Given the description of an element on the screen output the (x, y) to click on. 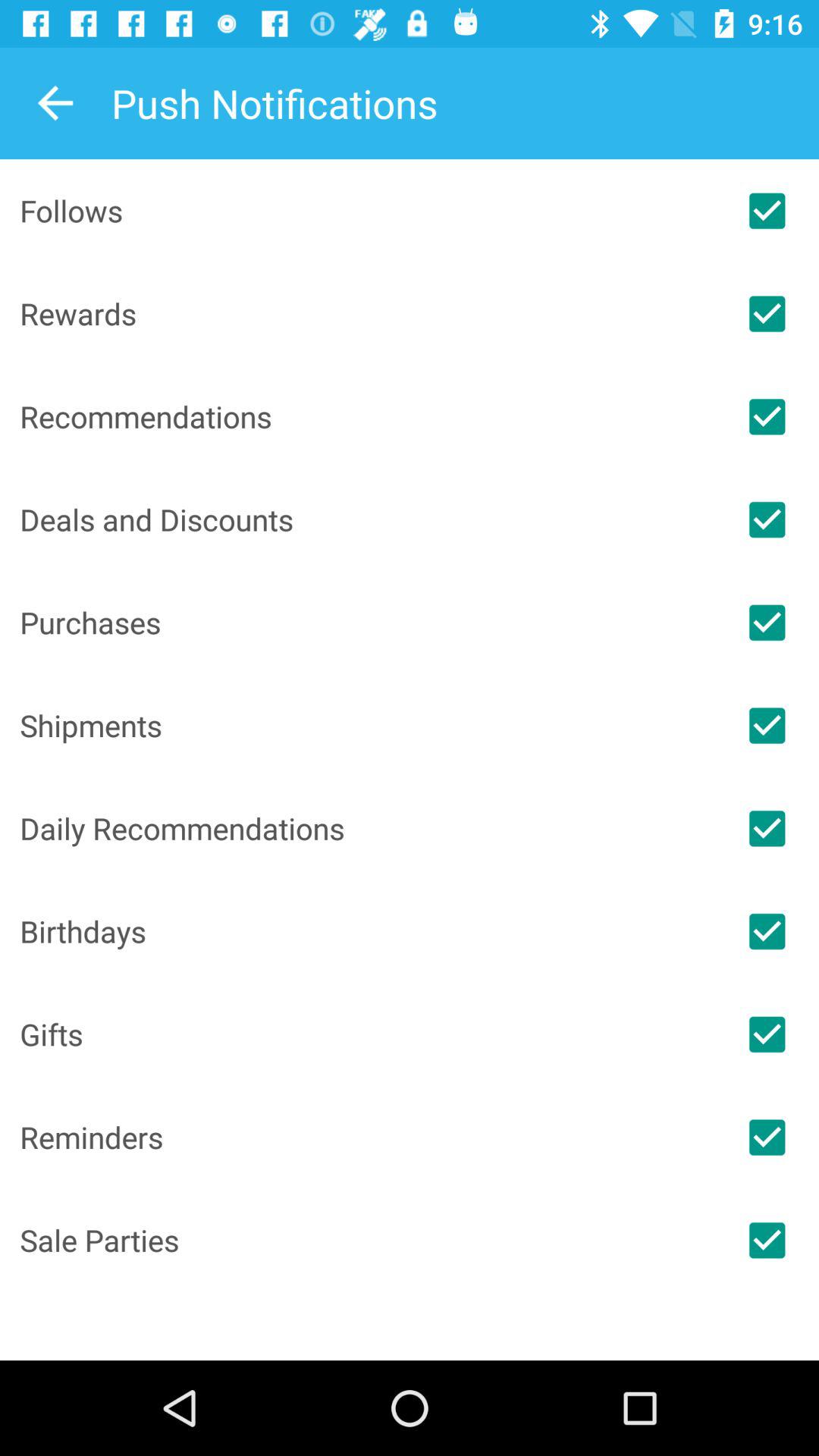
toggle rewards notification (767, 313)
